Given the description of an element on the screen output the (x, y) to click on. 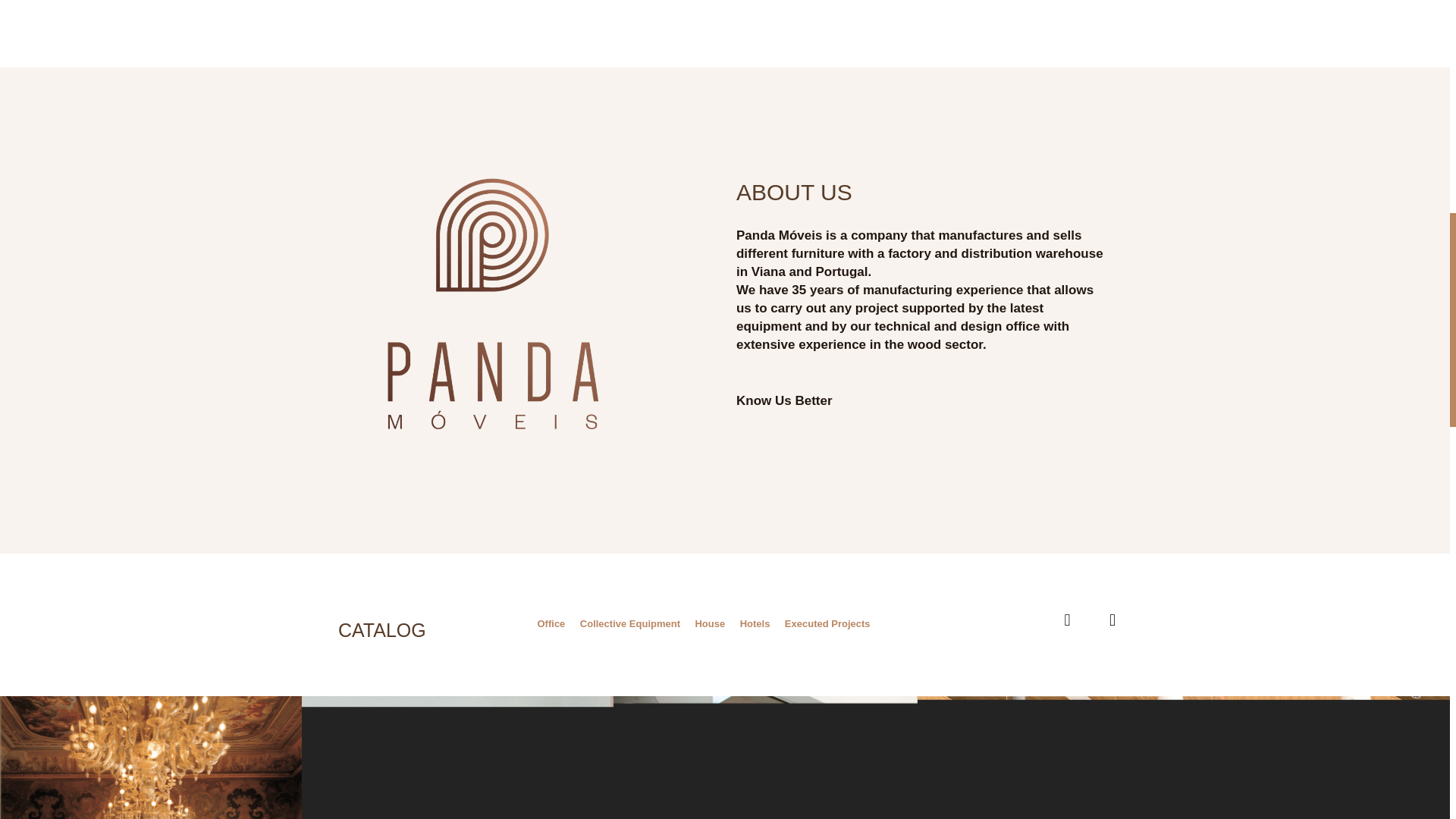
Contemporary (456, 757)
House (709, 623)
Office (550, 623)
Nursery (764, 757)
Executed Projects (827, 623)
Schools (1070, 757)
Hotels (754, 623)
Know Us Better (784, 400)
Collective Equipment (629, 623)
Classics (150, 757)
